Given the description of an element on the screen output the (x, y) to click on. 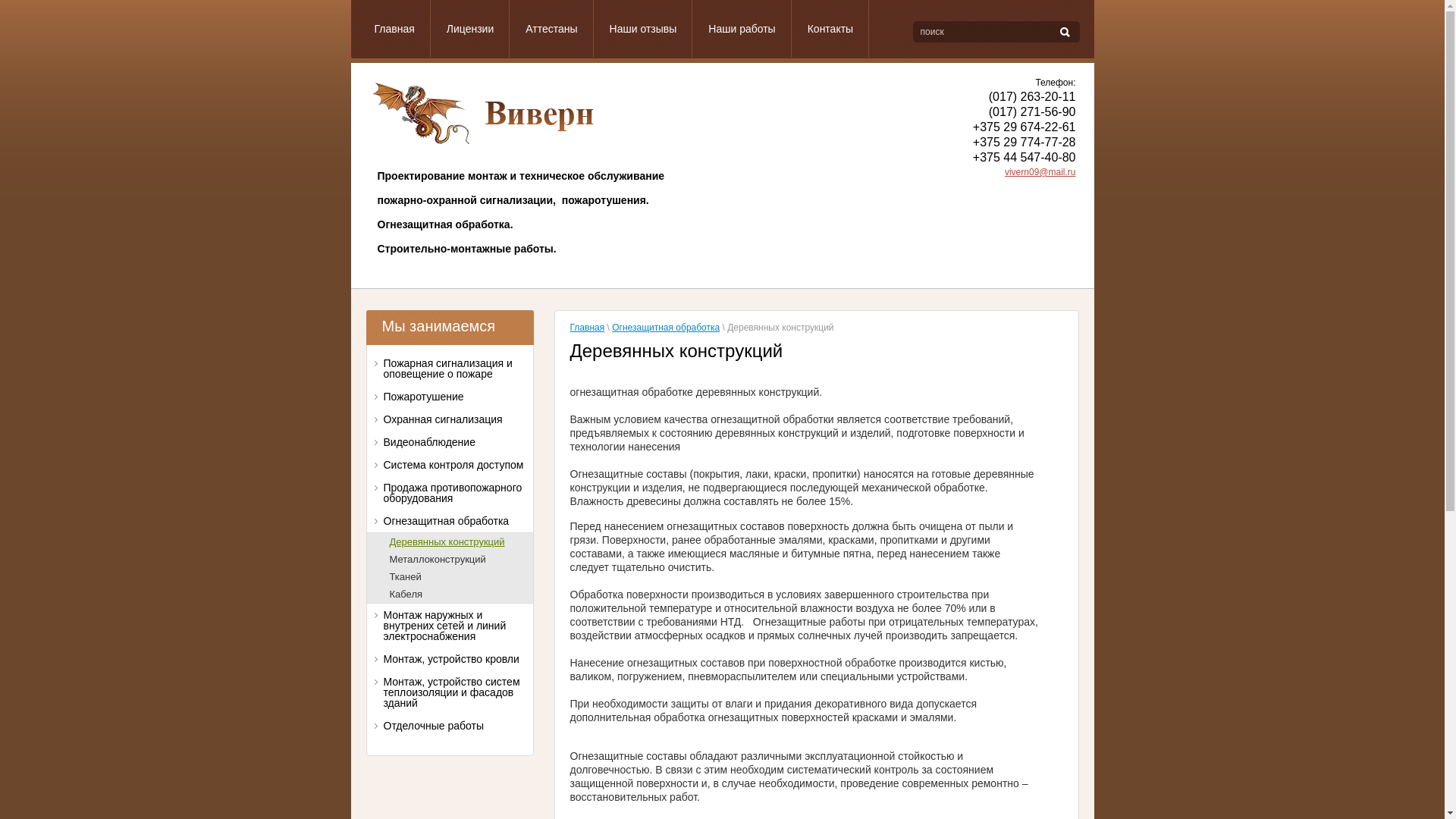
vivern09@mail.ru Element type: text (1040, 171)
